Given the description of an element on the screen output the (x, y) to click on. 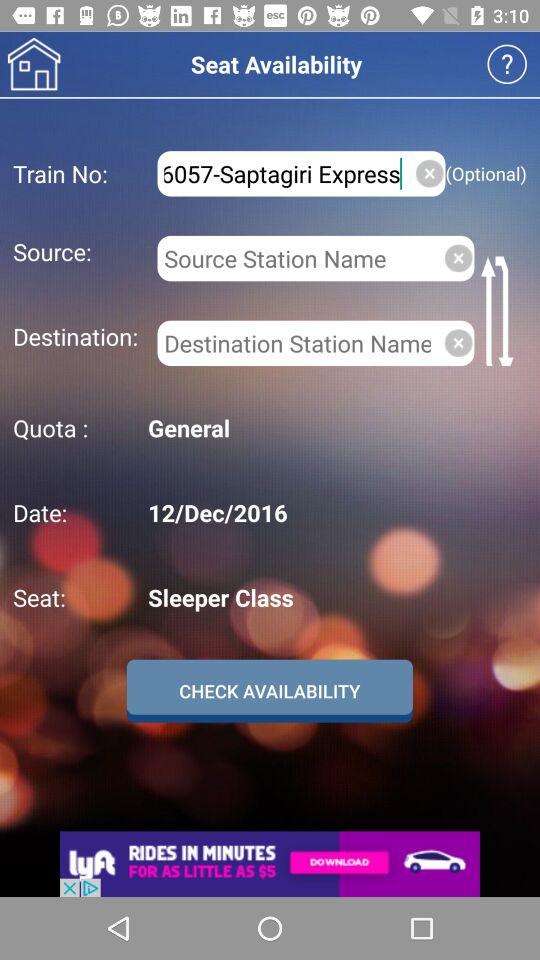
turn on the icon next to the quota : item (333, 427)
